Given the description of an element on the screen output the (x, y) to click on. 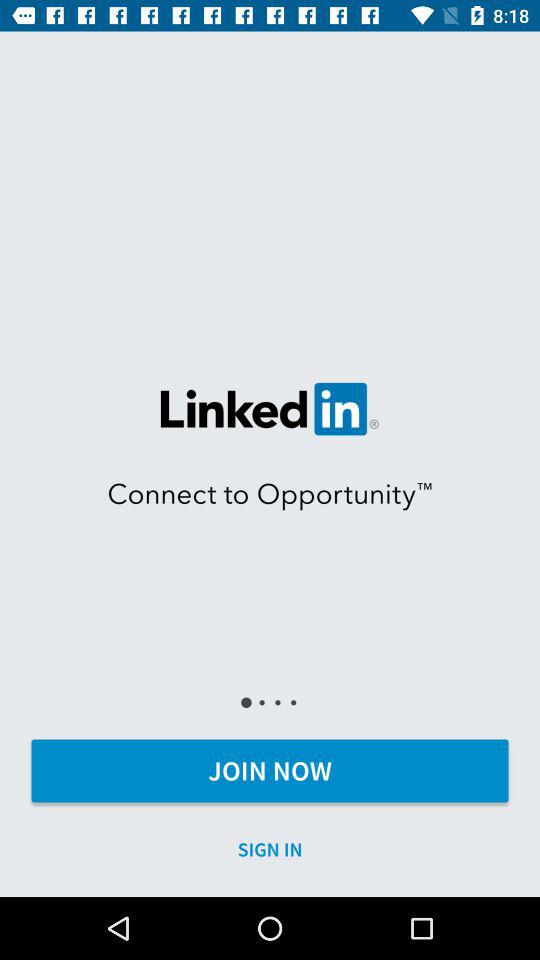
turn on the icon above sign in (269, 770)
